Given the description of an element on the screen output the (x, y) to click on. 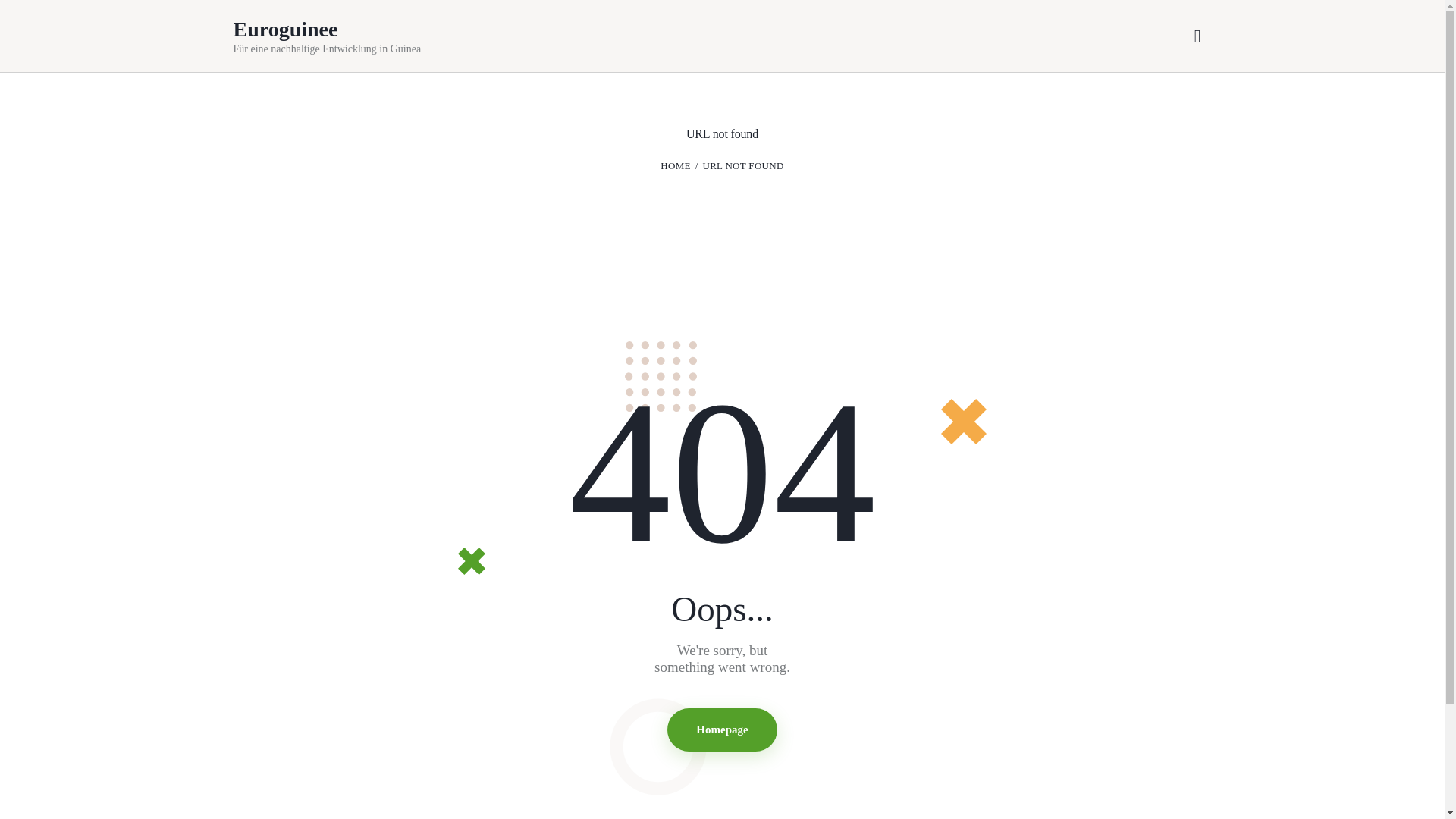
Homepage (721, 729)
HOME (675, 165)
